Given the description of an element on the screen output the (x, y) to click on. 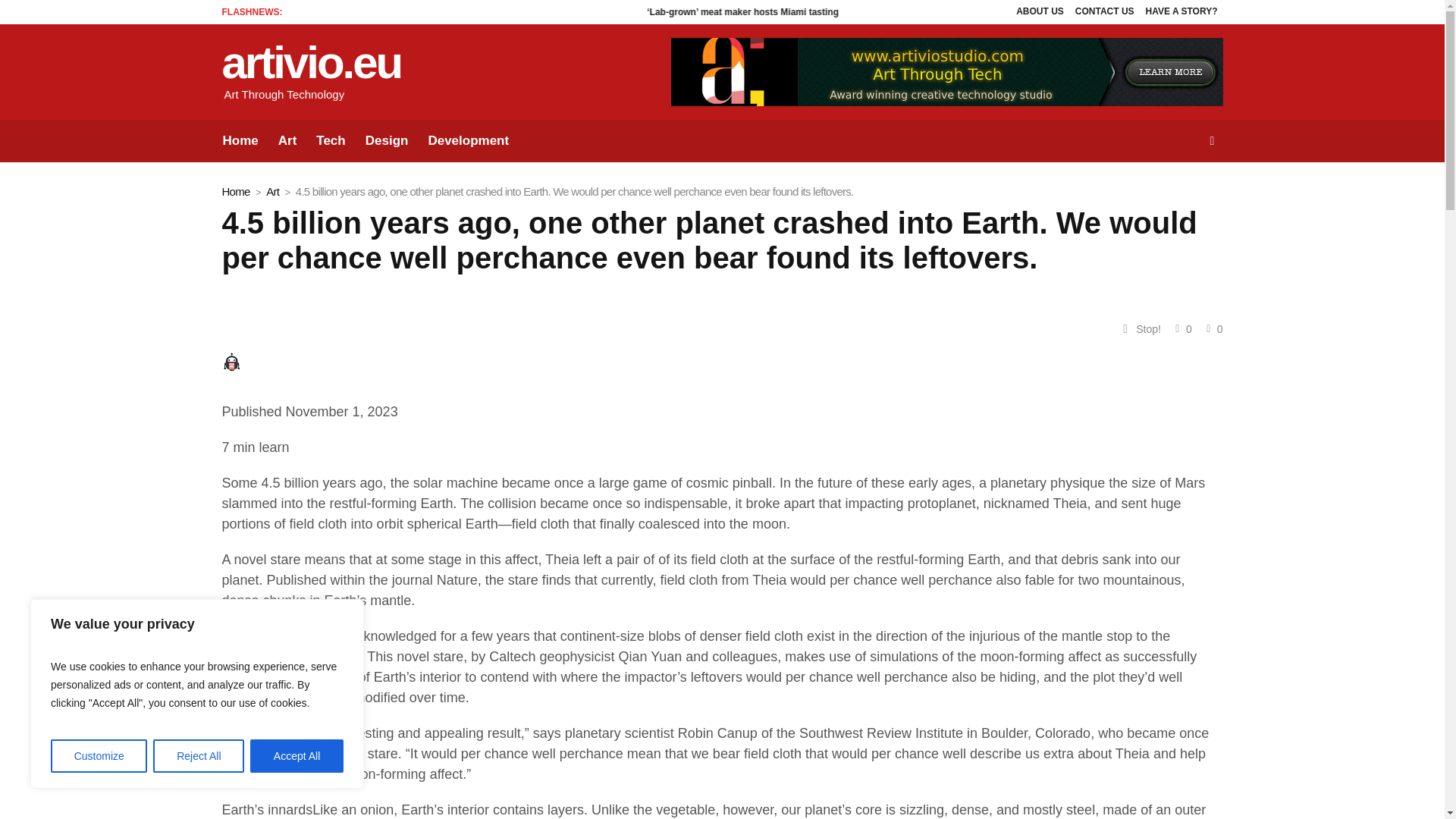
CONTACT US (1105, 11)
ABOUT US (1039, 11)
Customize (98, 756)
Reject All (198, 756)
Accept All (296, 756)
HAVE A STORY? (1181, 11)
